Given the description of an element on the screen output the (x, y) to click on. 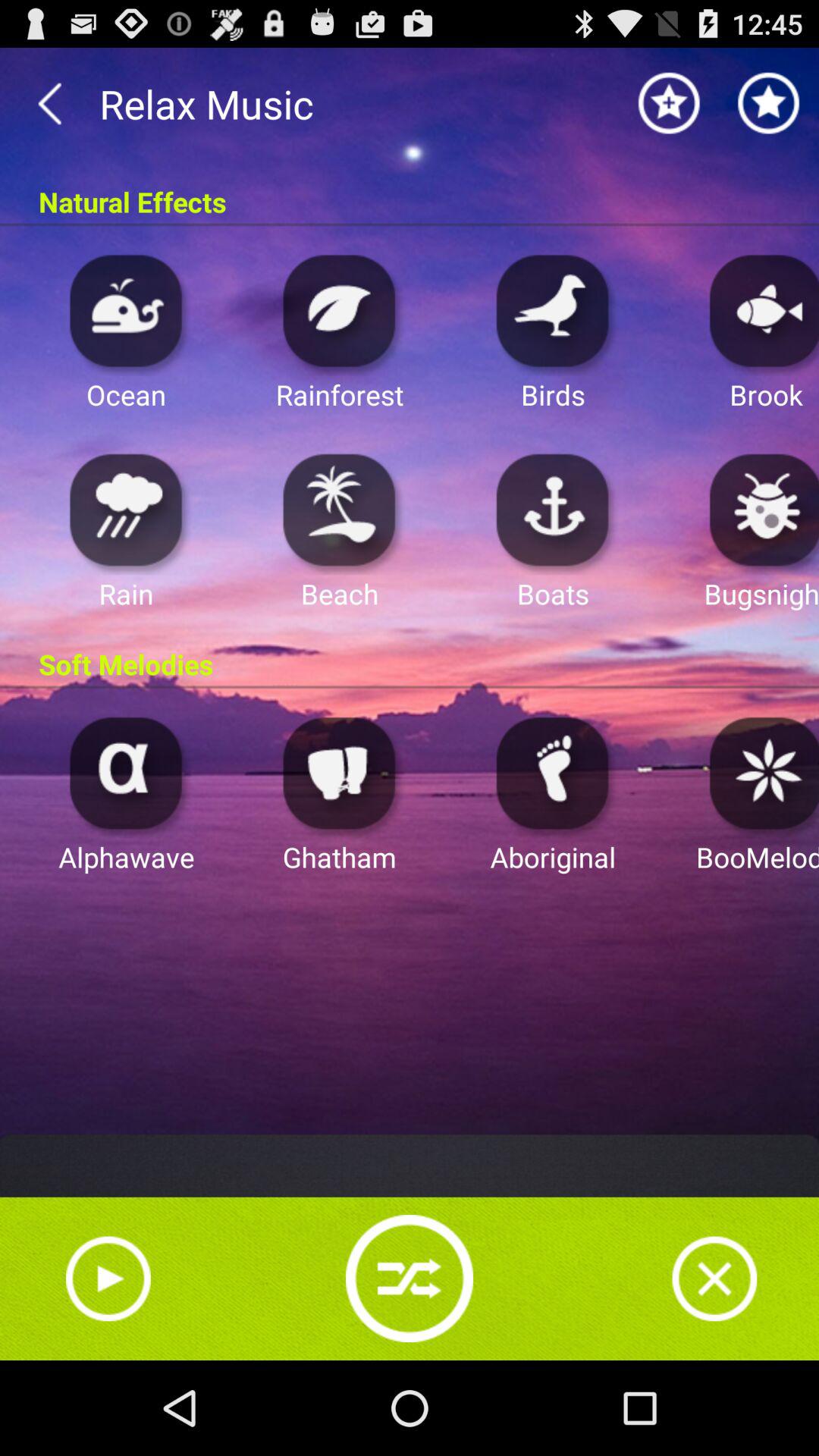
play aboriginal music (552, 772)
